Given the description of an element on the screen output the (x, y) to click on. 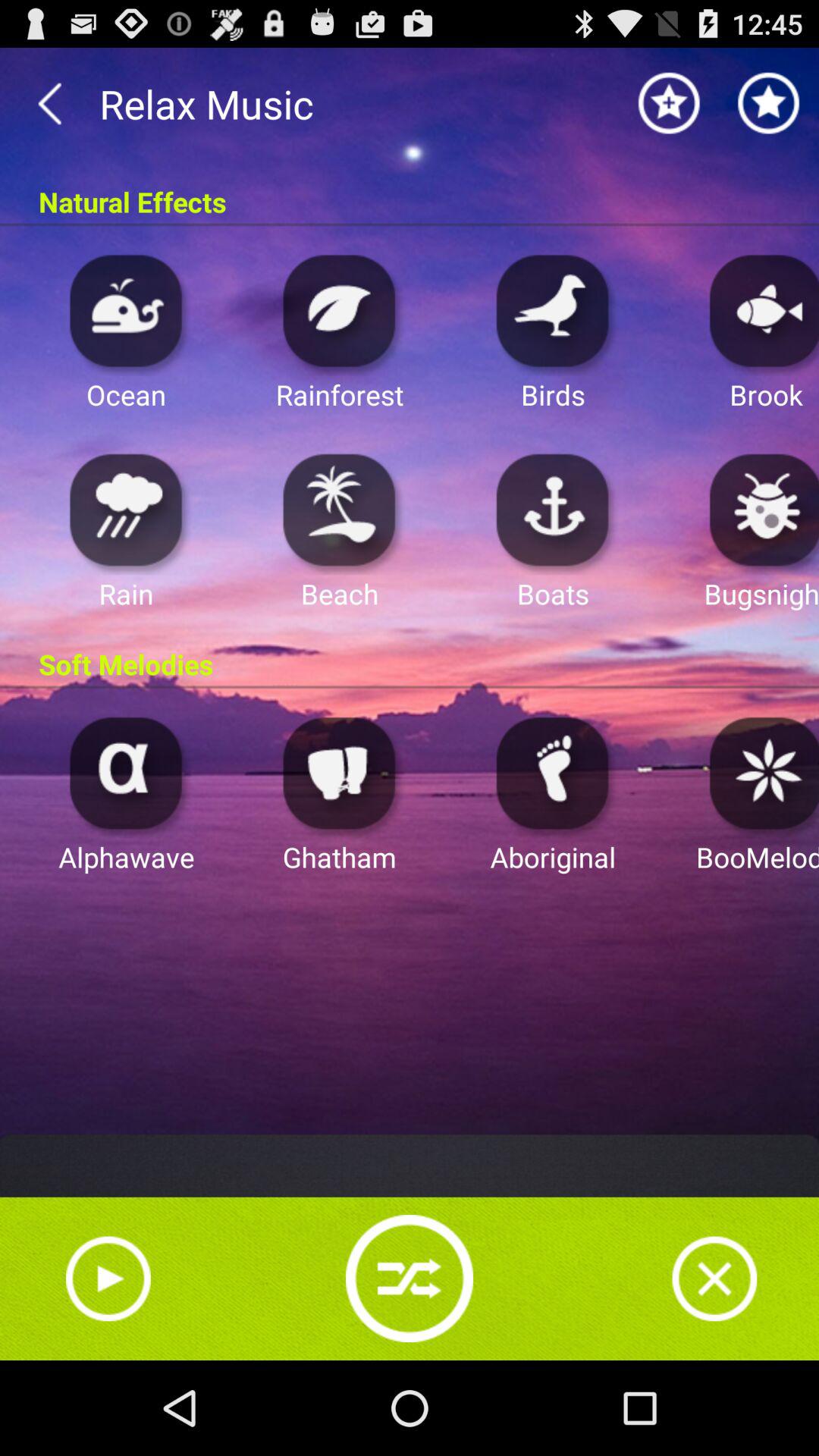
play aboriginal music (552, 772)
